Given the description of an element on the screen output the (x, y) to click on. 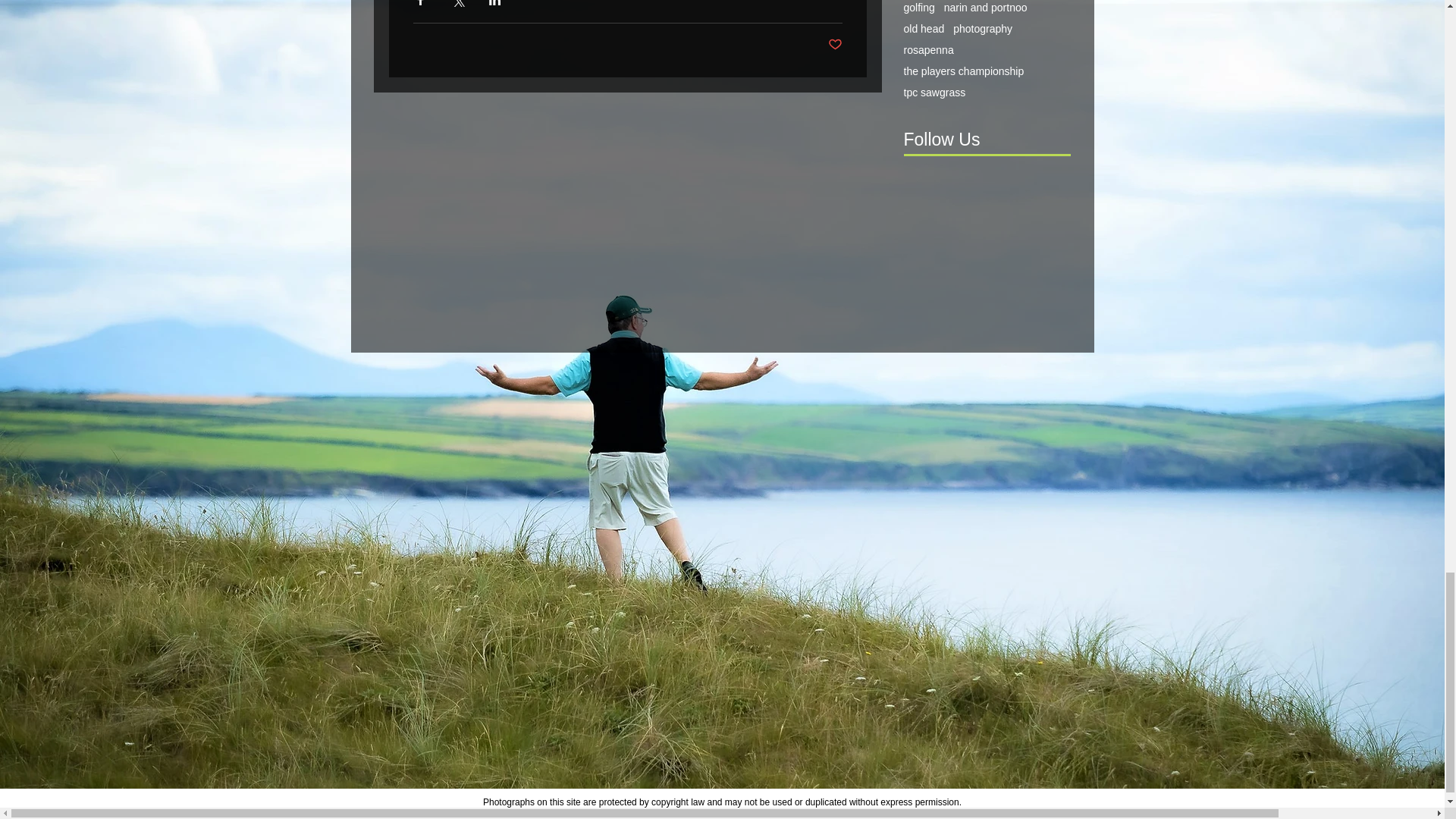
Post not marked as liked (835, 44)
